Given the description of an element on the screen output the (x, y) to click on. 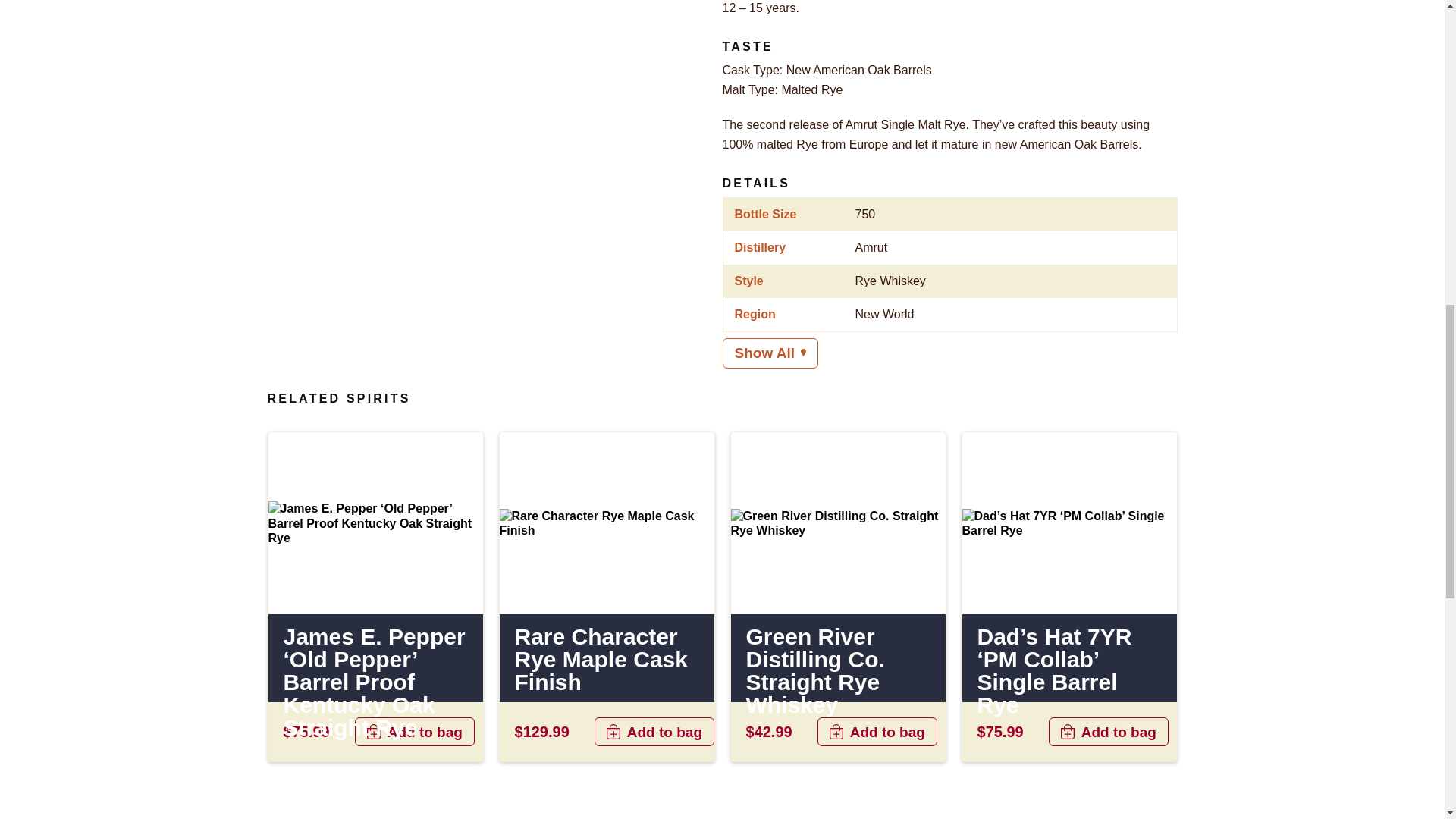
Add to bag (414, 731)
Show All (770, 353)
Rare Character Rye Maple Cask Finish (605, 659)
Add to bag (654, 731)
